Given the description of an element on the screen output the (x, y) to click on. 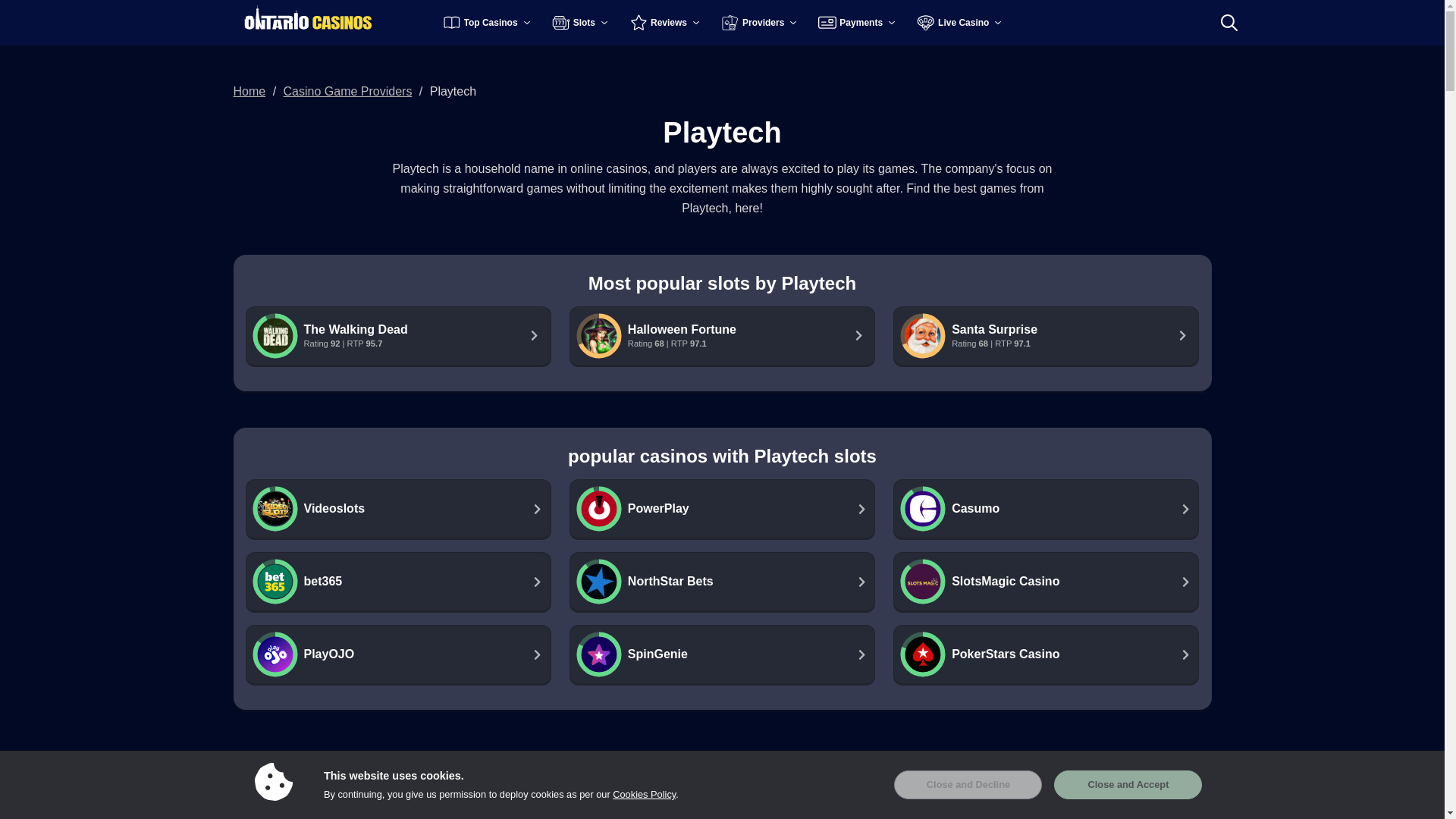
Reviews (665, 22)
Providers (759, 22)
Top Casinos (488, 22)
Slots (581, 22)
